Given the description of an element on the screen output the (x, y) to click on. 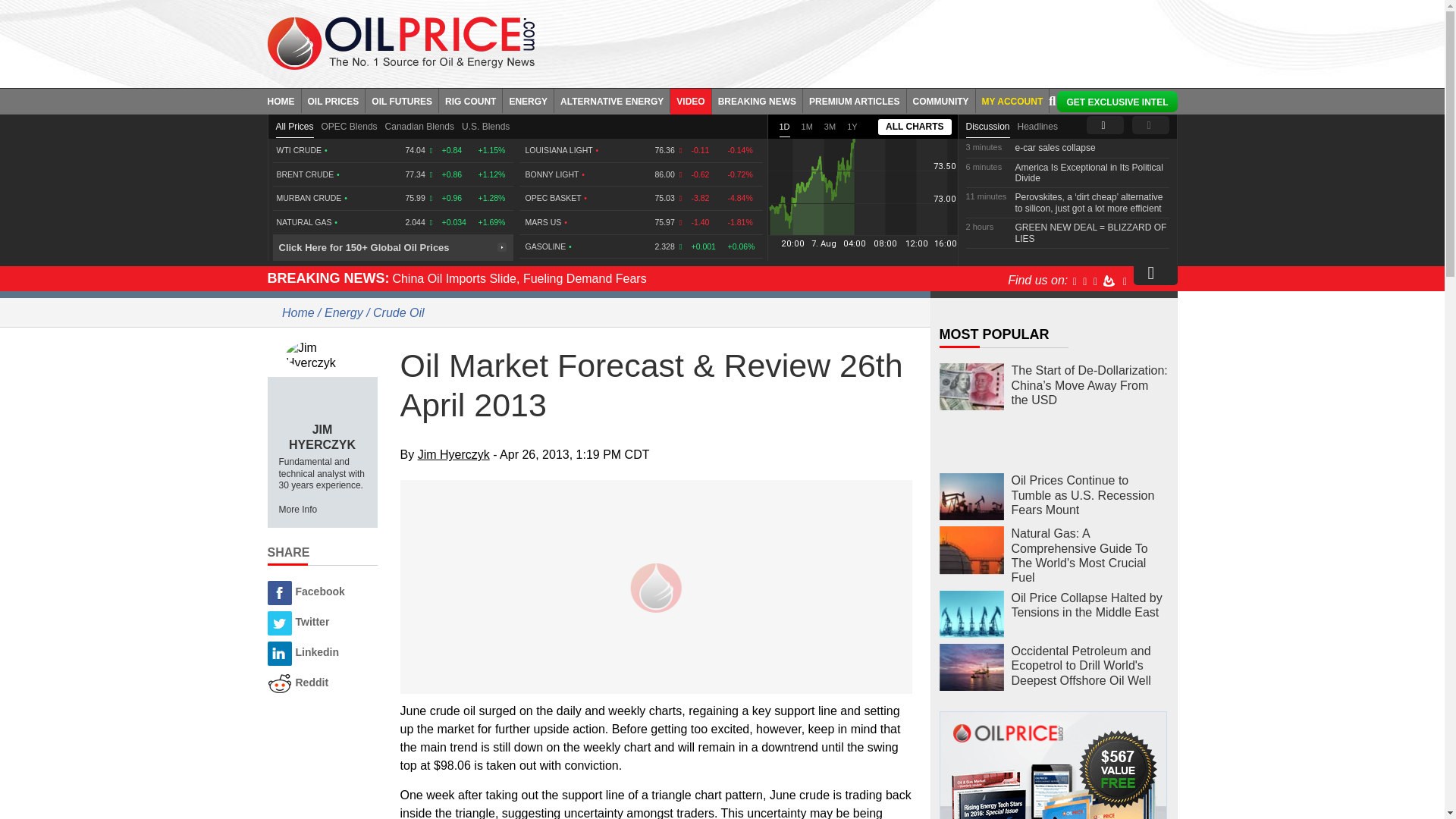
PREMIUM ARTICLES (855, 100)
RIG COUNT (470, 100)
COMMUNITY (941, 100)
OIL FUTURES (402, 100)
ENERGY (528, 100)
OIL PRICES (333, 100)
Oil prices - Oilprice.com (400, 42)
Oil Prices Continue to Tumble as U.S. Recession Fears Mount (971, 496)
MY ACCOUNT (1012, 100)
BREAKING NEWS (757, 100)
Jim Hyerczyk (321, 355)
Oil Price Collapse Halted by Tensions in the Middle East (971, 614)
ALTERNATIVE ENERGY (611, 100)
